Given the description of an element on the screen output the (x, y) to click on. 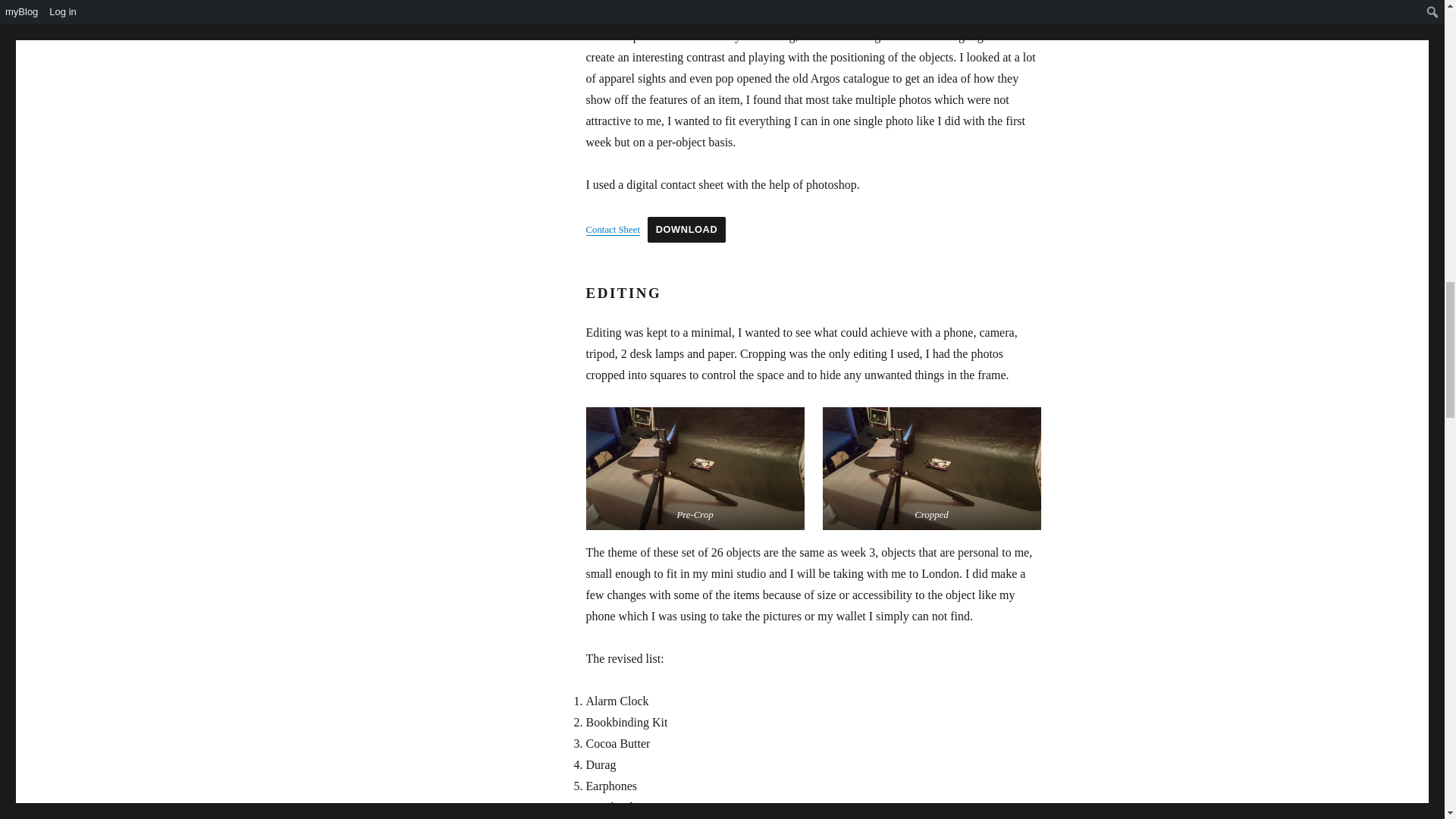
DOWNLOAD (686, 229)
Contact Sheet (612, 229)
